Given the description of an element on the screen output the (x, y) to click on. 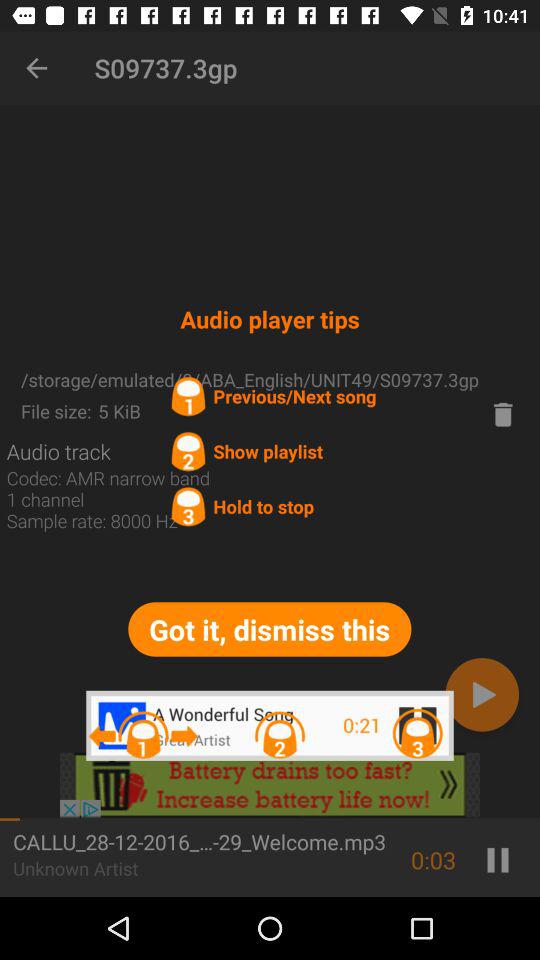
go forward next page (482, 694)
